Given the description of an element on the screen output the (x, y) to click on. 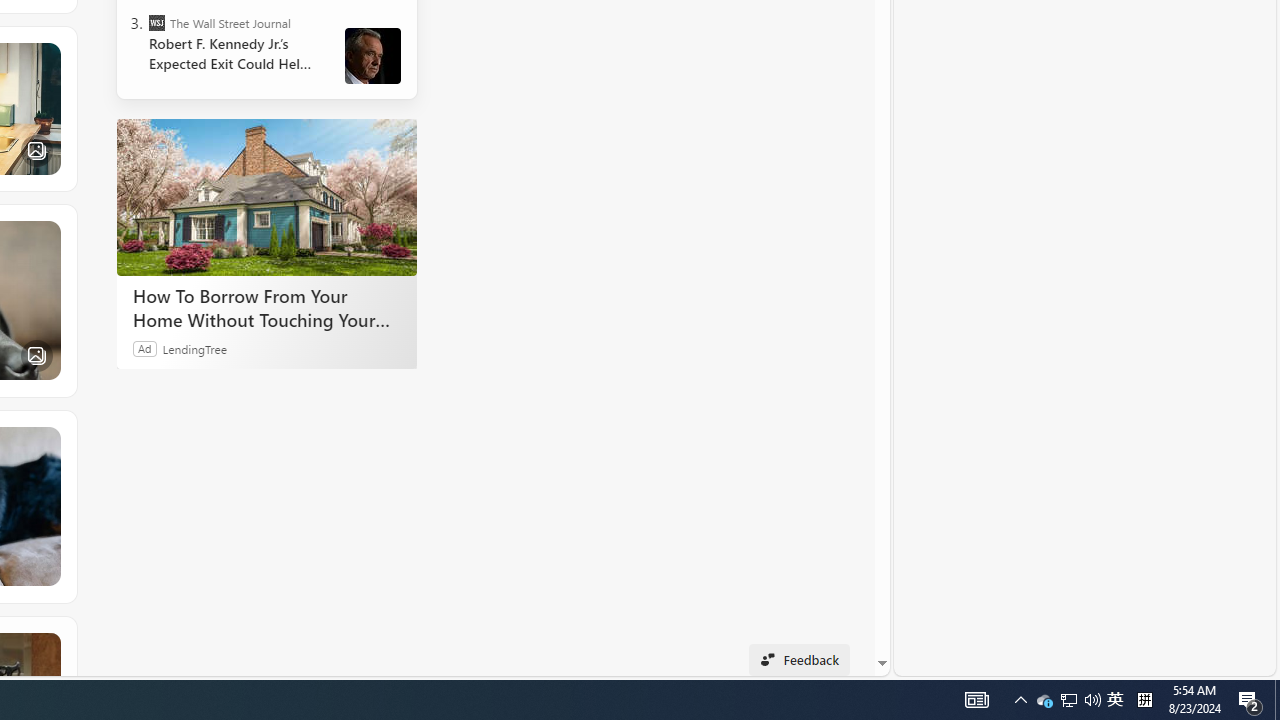
The Wall Street Journal (156, 22)
How To Borrow From Your Home Without Touching Your Mortgage (266, 307)
Feedback (798, 659)
How To Borrow From Your Home Without Touching Your Mortgage (266, 196)
Ad (145, 348)
See more (47, 646)
LendingTree (194, 348)
